Given the description of an element on the screen output the (x, y) to click on. 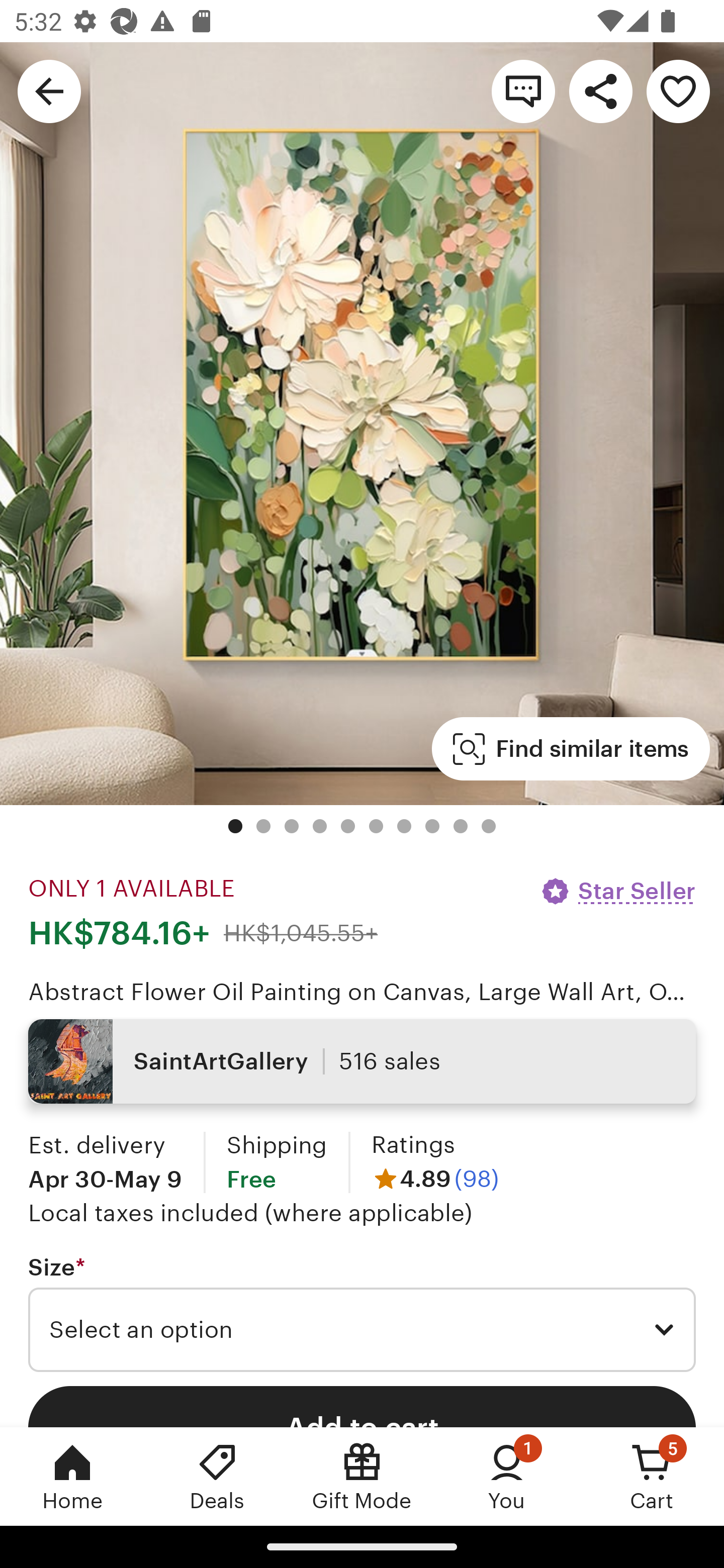
Navigate up (49, 90)
Contact shop (523, 90)
Share (600, 90)
Find similar items (571, 748)
Star Seller (617, 890)
SaintArtGallery 516 sales (361, 1061)
Ratings (413, 1144)
4.89 (98) (434, 1179)
Size * Required Select an option (361, 1313)
Select an option (361, 1329)
Deals (216, 1475)
Gift Mode (361, 1475)
You, 1 new notification You (506, 1475)
Cart, 5 new notifications Cart (651, 1475)
